Given the description of an element on the screen output the (x, y) to click on. 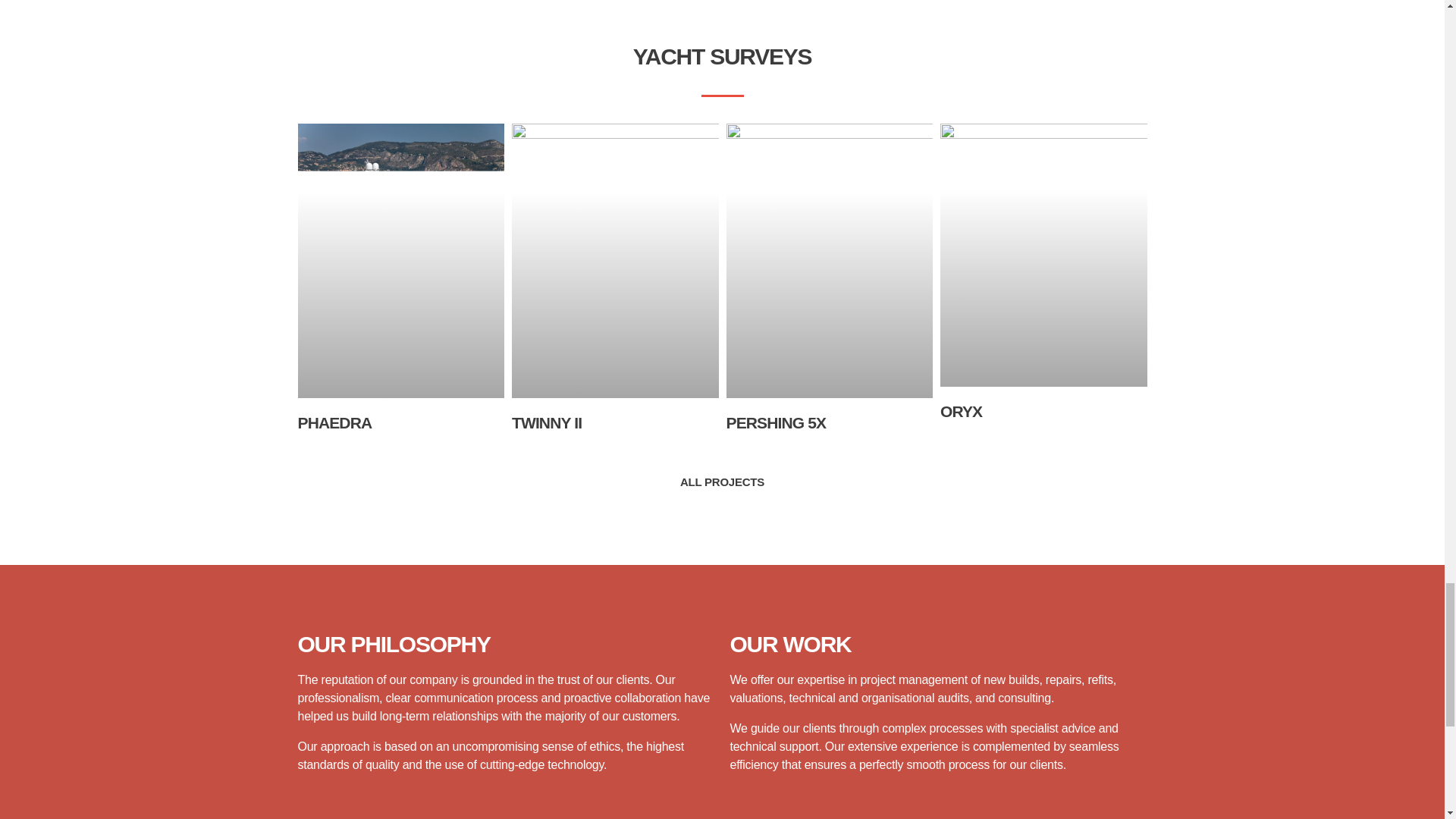
ORYX (960, 411)
PHAEDRA (334, 422)
PERSHING 5X (776, 422)
ALL PROJECTS (722, 481)
TWINNY II (546, 422)
